Given the description of an element on the screen output the (x, y) to click on. 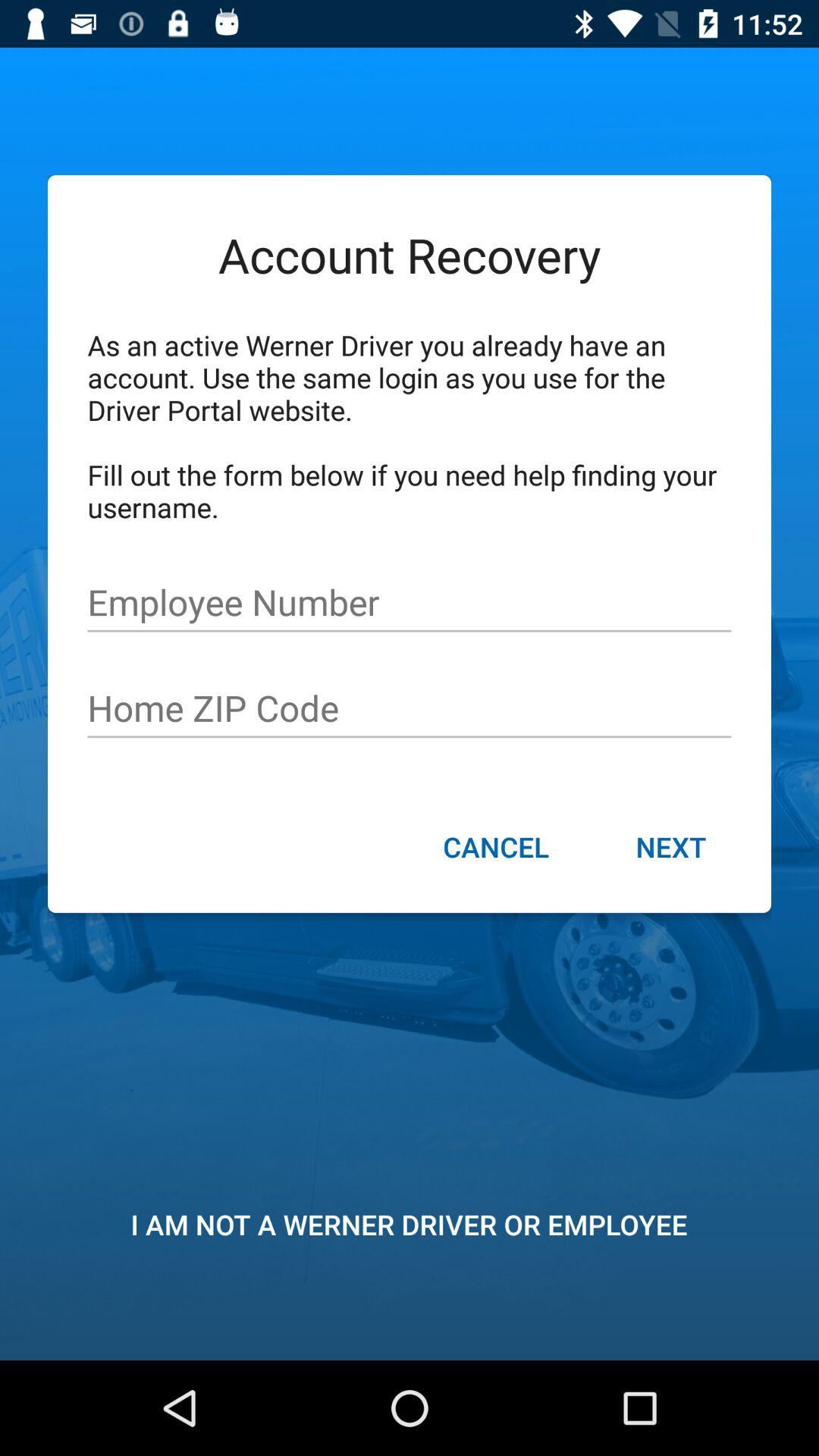
tap next item (670, 848)
